Given the description of an element on the screen output the (x, y) to click on. 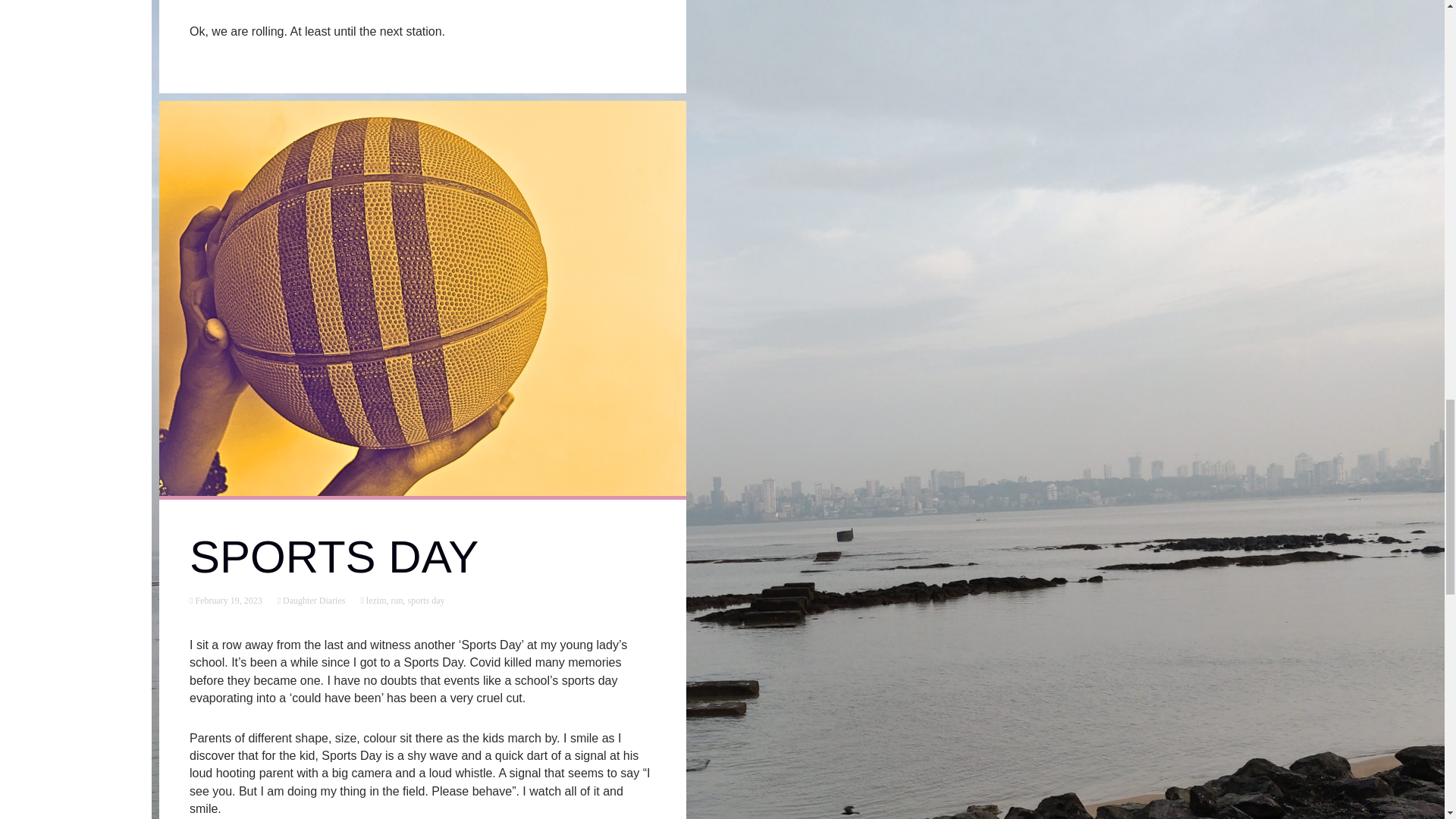
sports day (425, 600)
Daughter Diaries (313, 600)
February 19, 2023 (227, 600)
Permalink to Sports Day (227, 600)
lezim (375, 600)
run (396, 600)
SPORTS DAY (334, 556)
